Given the description of an element on the screen output the (x, y) to click on. 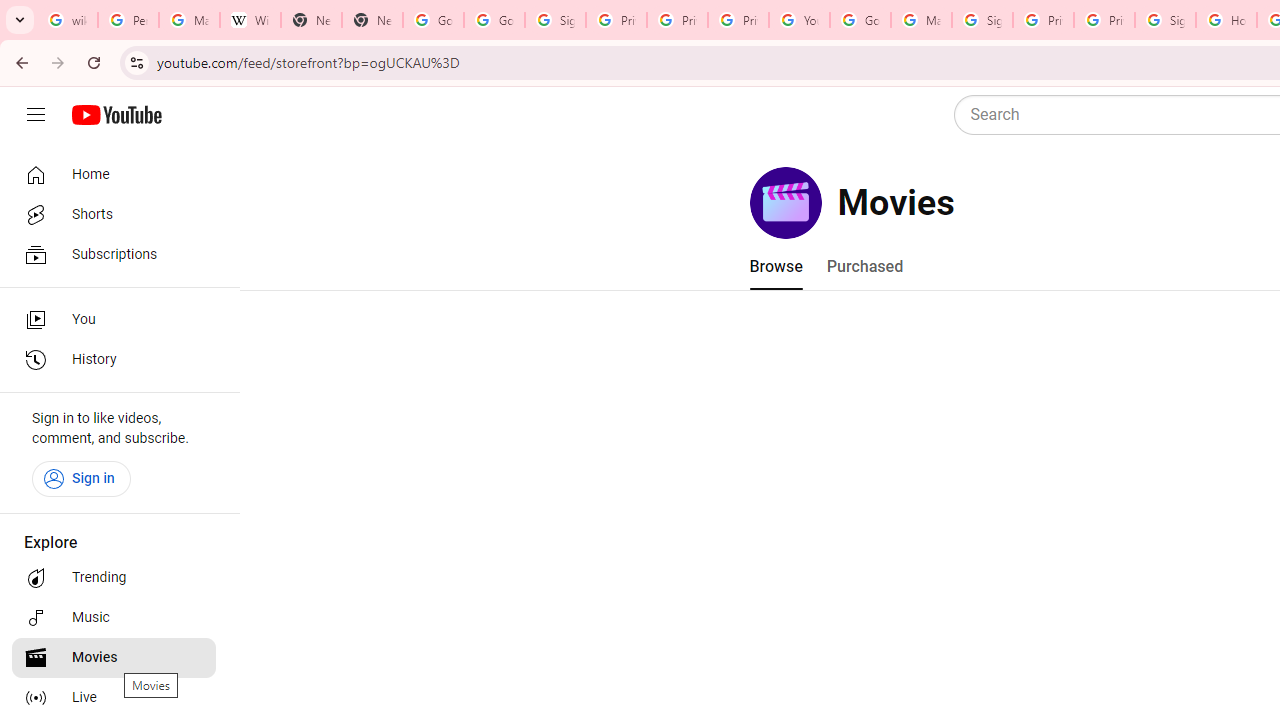
Google Drive: Sign-in (493, 20)
Live (113, 697)
YouTube (799, 20)
Movies (113, 657)
Personalization & Google Search results - Google Search Help (128, 20)
